Given the description of an element on the screen output the (x, y) to click on. 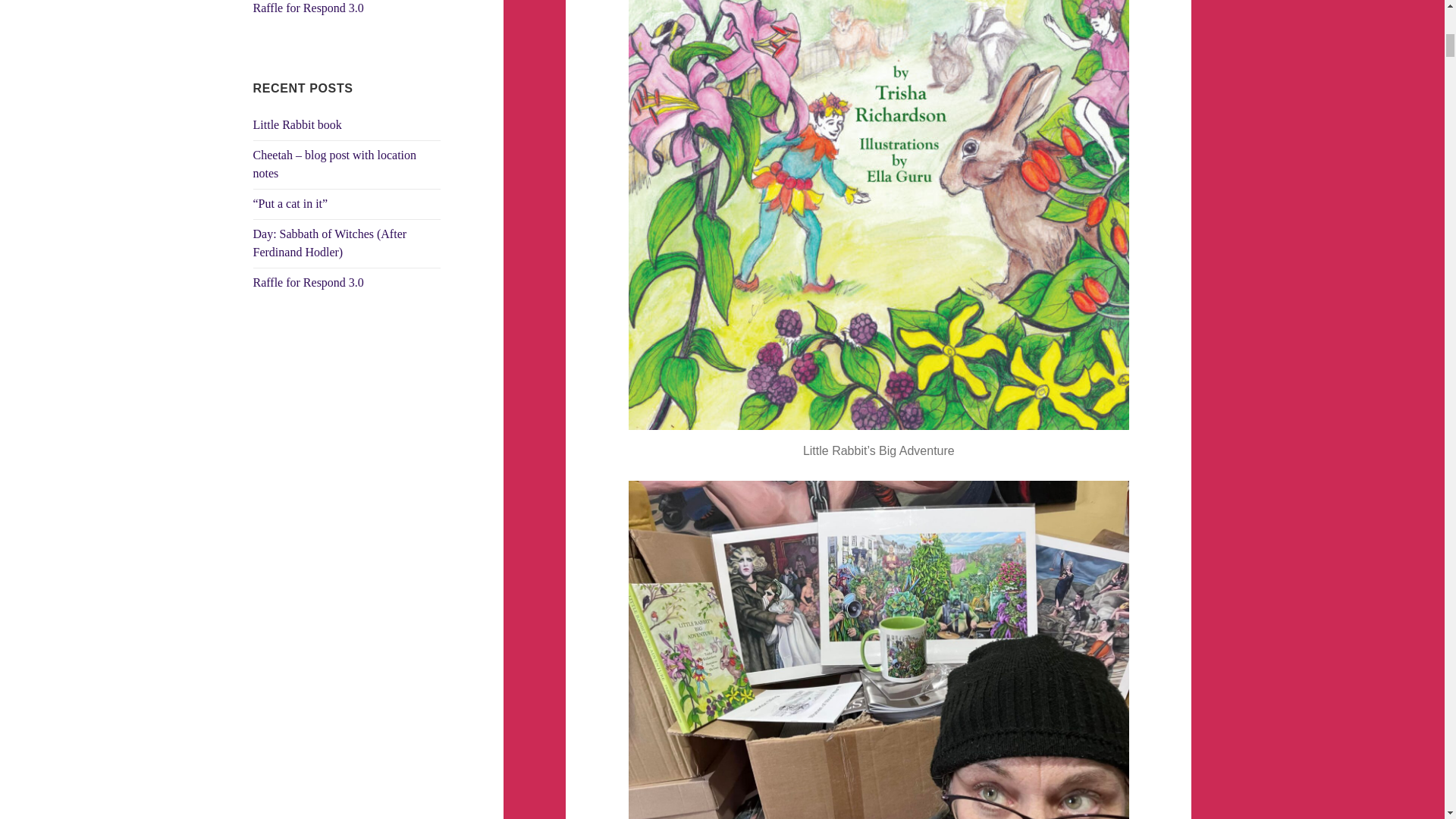
Little Rabbit book (297, 124)
Raffle for Respond 3.0 (308, 282)
Raffle for Respond 3.0 (308, 7)
